Given the description of an element on the screen output the (x, y) to click on. 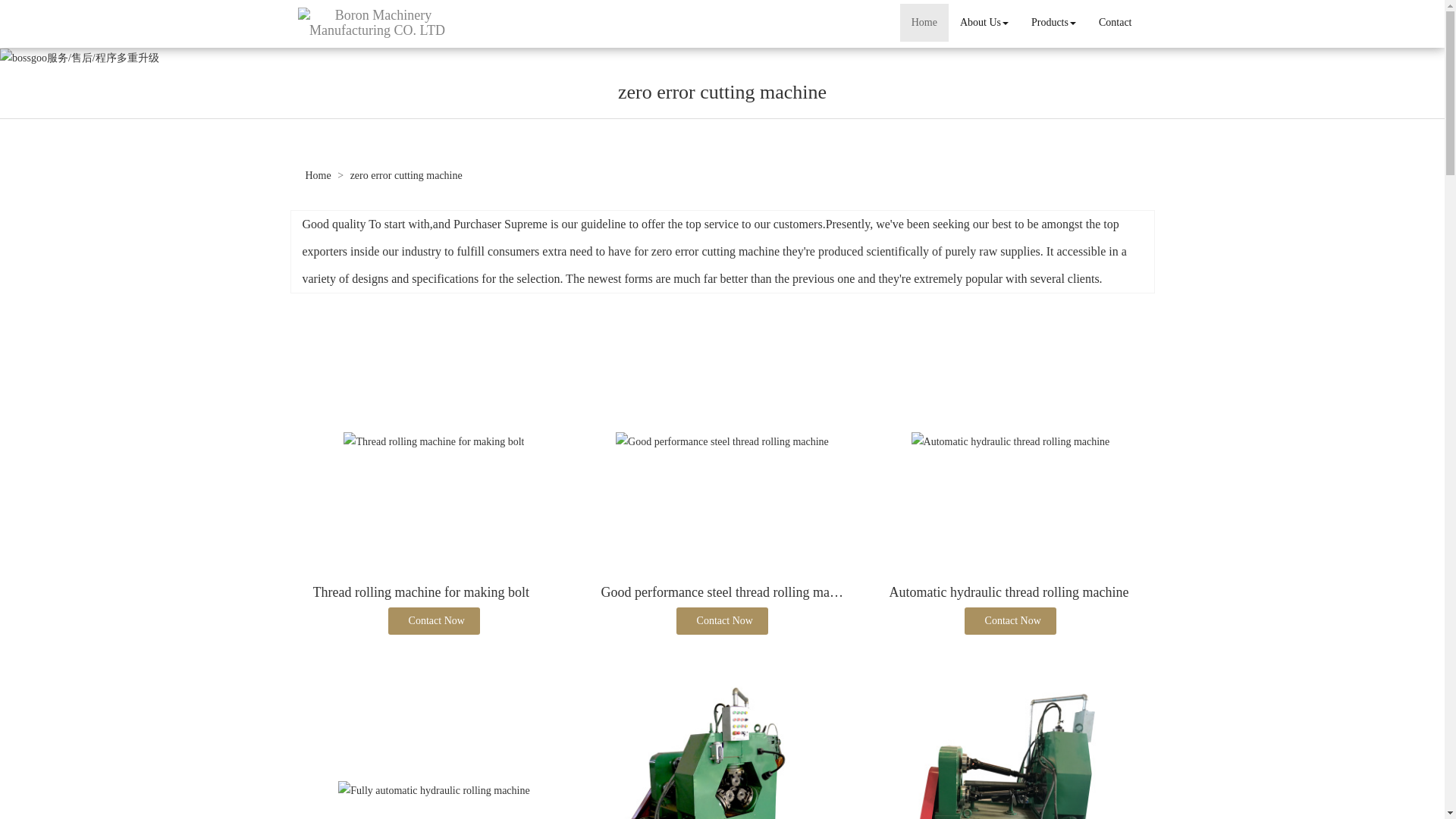
zero error cutting machine (714, 250)
Contact Now (1010, 620)
Contact (1114, 22)
Products (1053, 22)
Thread rolling machine for making bolt (420, 591)
Contact Now (722, 620)
About Us (984, 22)
Good performance steel thread rolling machine (729, 591)
zero error cutting machine (406, 174)
Good performance steel thread rolling machine (721, 441)
